Given the description of an element on the screen output the (x, y) to click on. 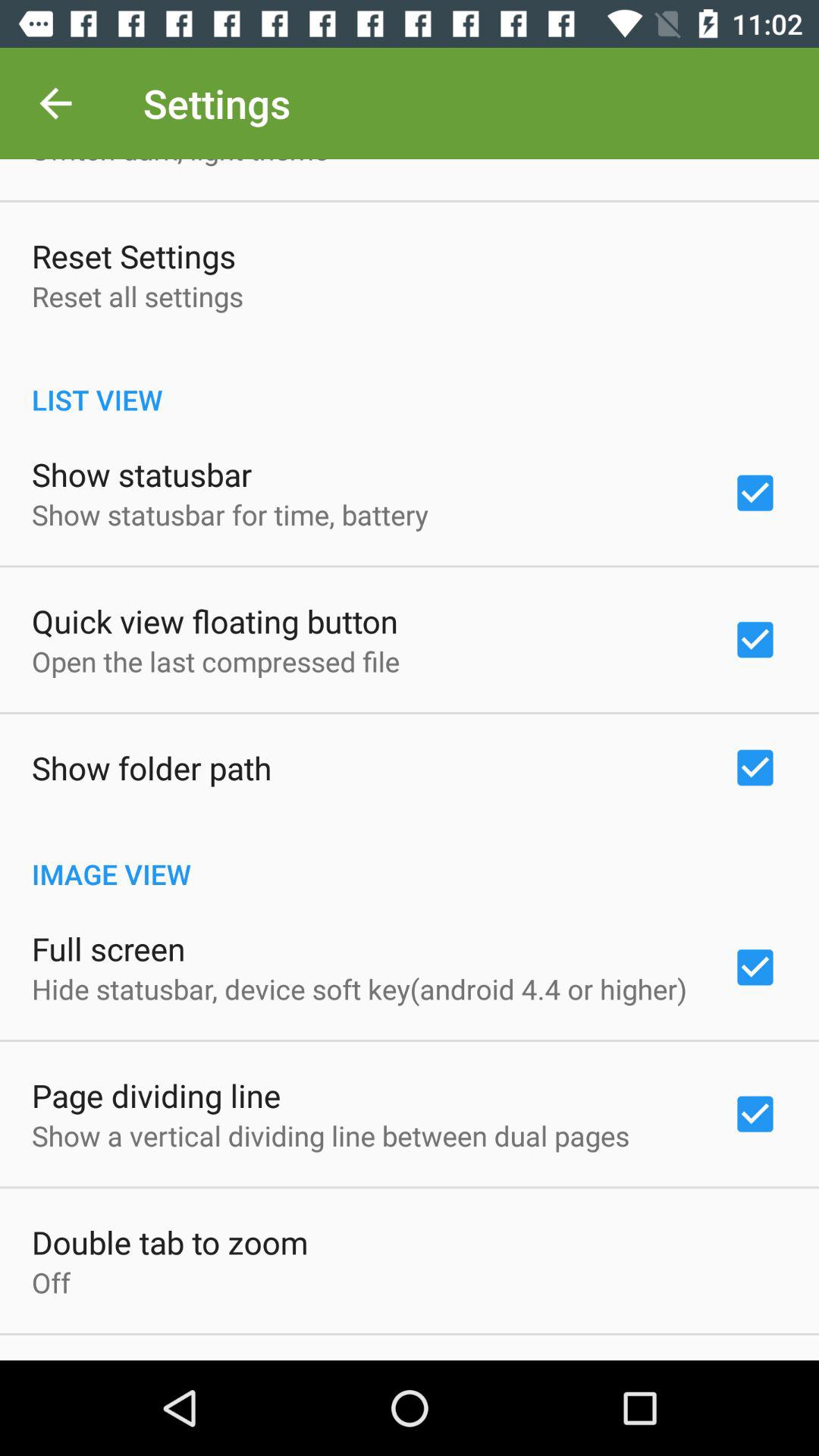
tap show folder path item (151, 767)
